Given the description of an element on the screen output the (x, y) to click on. 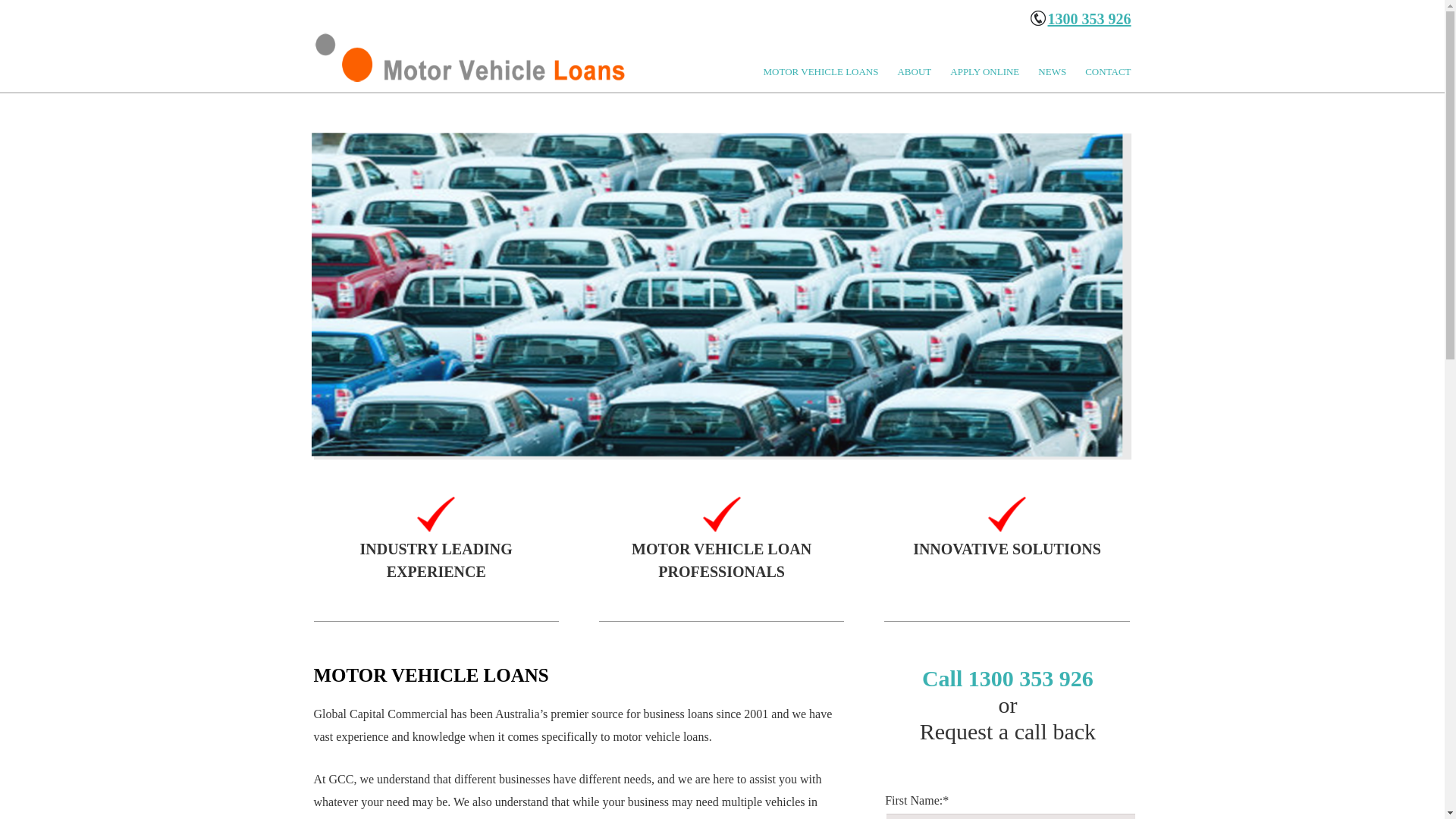
CONTACT Element type: text (1107, 71)
Skip to secondary content Element type: text (756, 71)
MOTOR VEHICLE LOANS Element type: text (830, 71)
ABOUT Element type: text (923, 71)
LOGO Element type: hover (472, 57)
Skip to primary content Element type: text (750, 71)
APPLY ONLINE Element type: text (994, 71)
NEWS Element type: text (1061, 71)
